Given the description of an element on the screen output the (x, y) to click on. 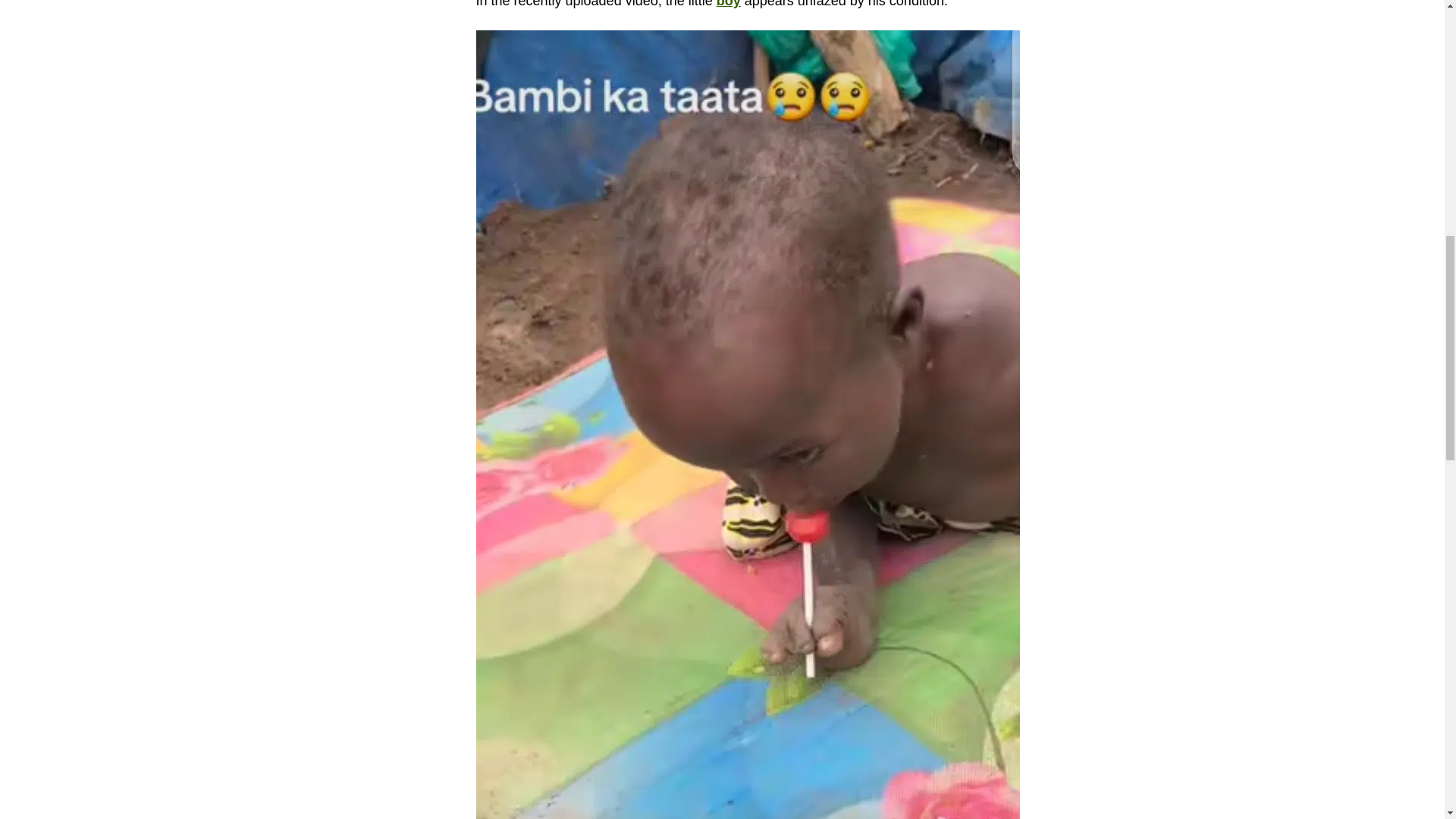
boy (728, 4)
